Given the description of an element on the screen output the (x, y) to click on. 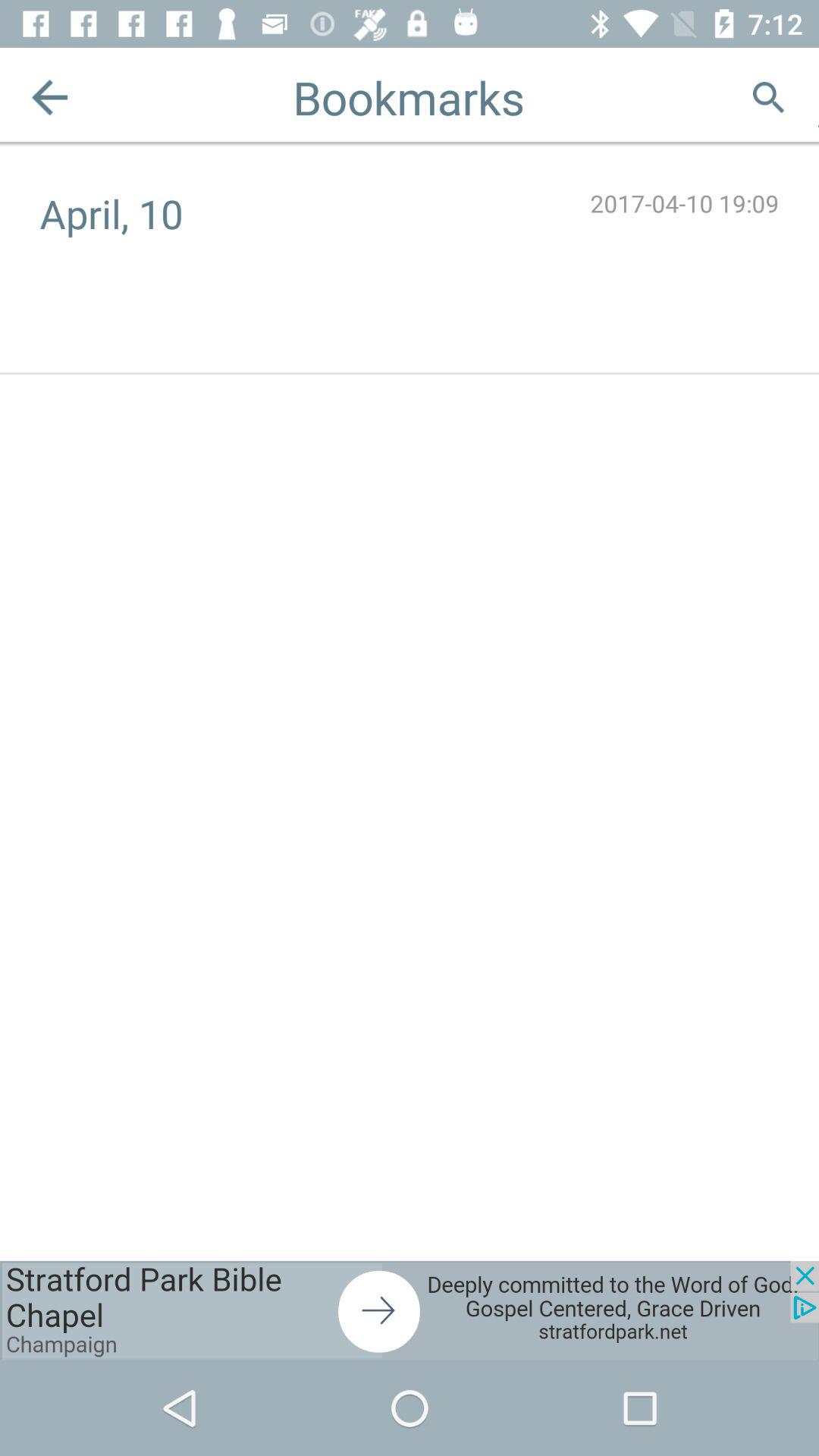
search (768, 97)
